Given the description of an element on the screen output the (x, y) to click on. 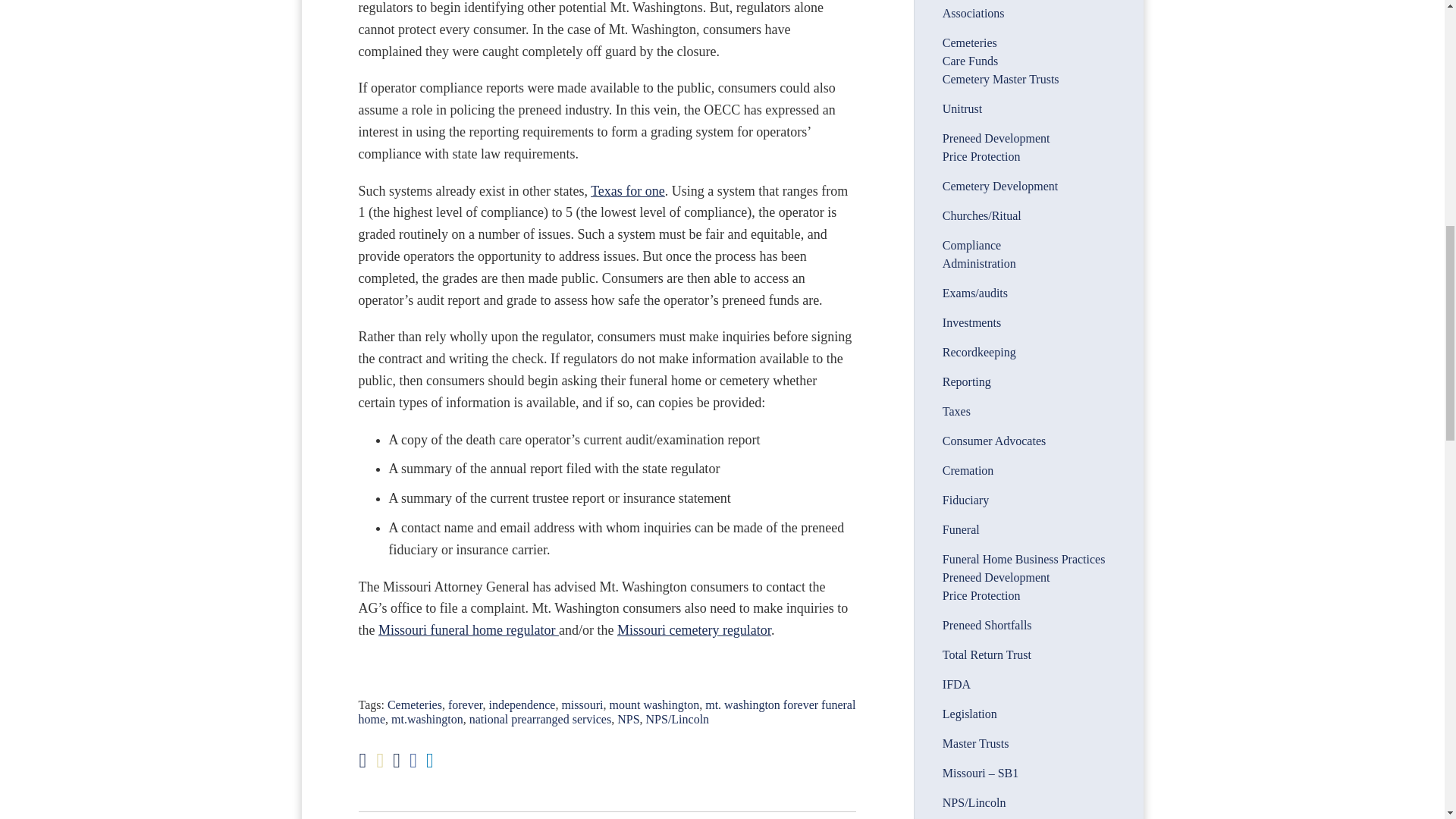
forever (465, 704)
independence (520, 704)
national prearranged services (539, 718)
Missouri funeral home regulator (468, 630)
mt.washington (427, 718)
Missouri cemetery regulator (694, 630)
Texas for one (628, 191)
missouri (581, 704)
mount washington (655, 704)
NPS (628, 718)
